Given the description of an element on the screen output the (x, y) to click on. 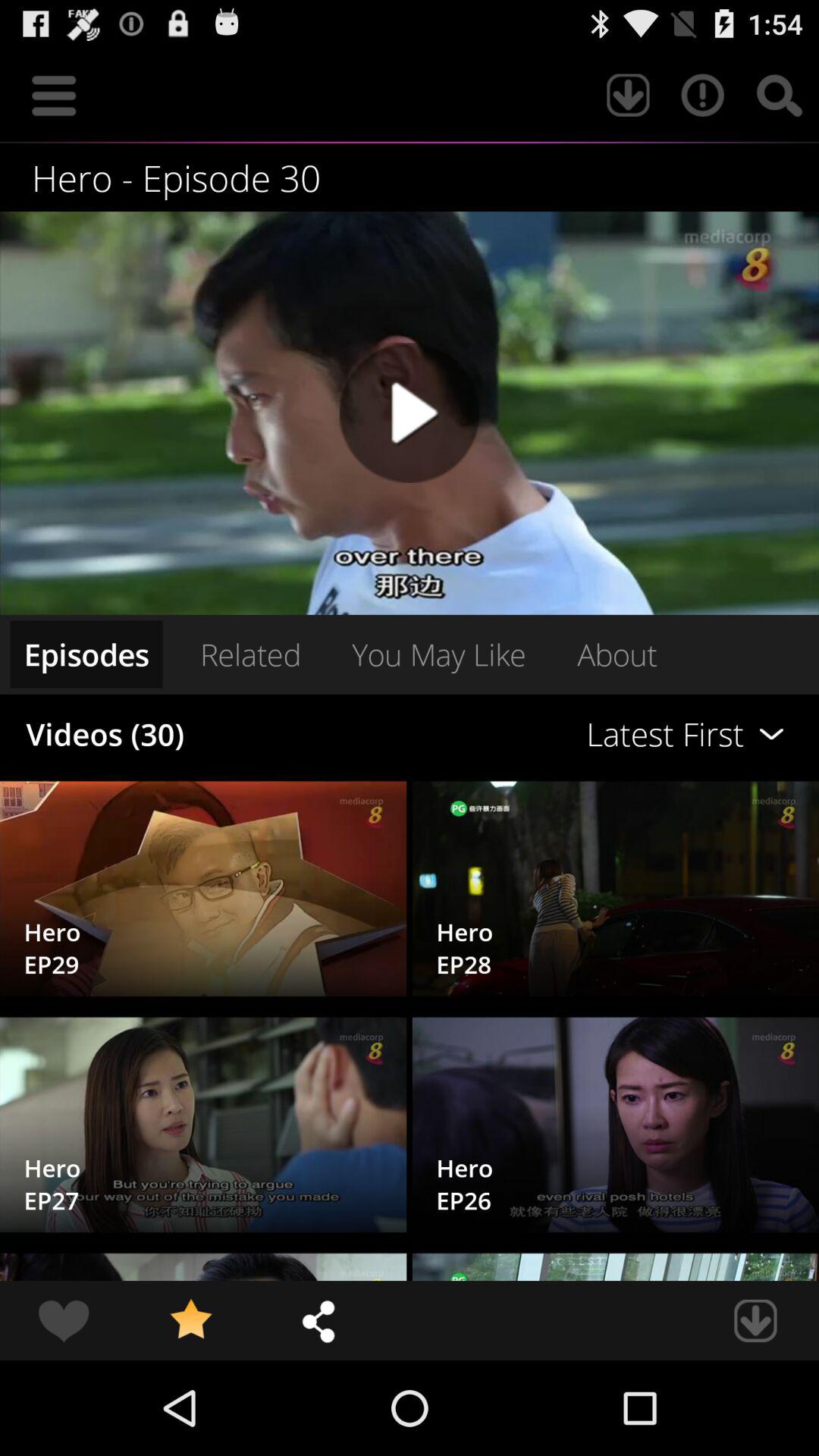
press icon to the right of the related (560, 734)
